Given the description of an element on the screen output the (x, y) to click on. 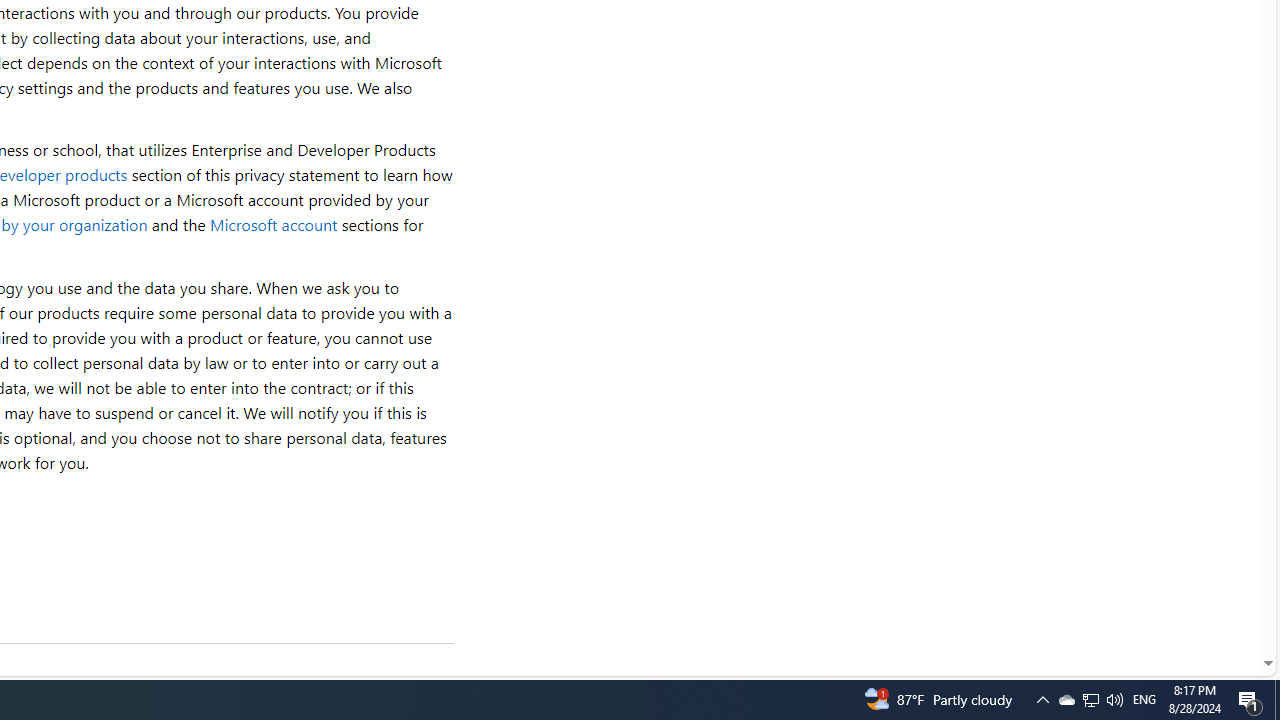
Microsoft account (273, 224)
